Given the description of an element on the screen output the (x, y) to click on. 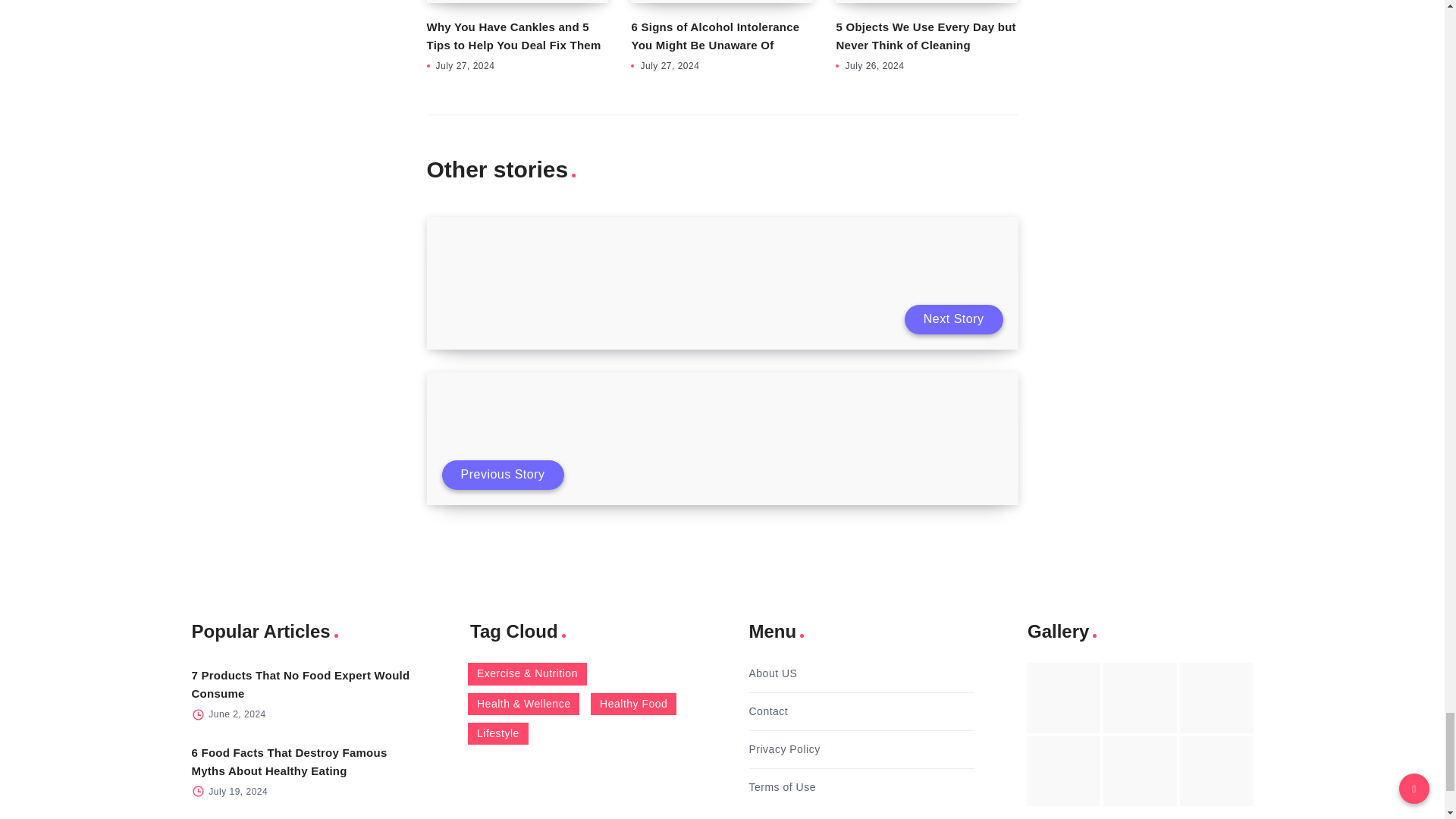
Why You Have Cankles and 5 Tips to Help You Deal Fix Them (512, 35)
6 Signs of Alcohol Intolerance You Might Be Unaware Of (714, 35)
5 Objects We Use Every Day but Never Think of Cleaning (924, 35)
6 Food Facts That Destroy Famous Myths About Healthy Eating (288, 761)
7 Products That No Food Expert Would Consume (299, 684)
